Given the description of an element on the screen output the (x, y) to click on. 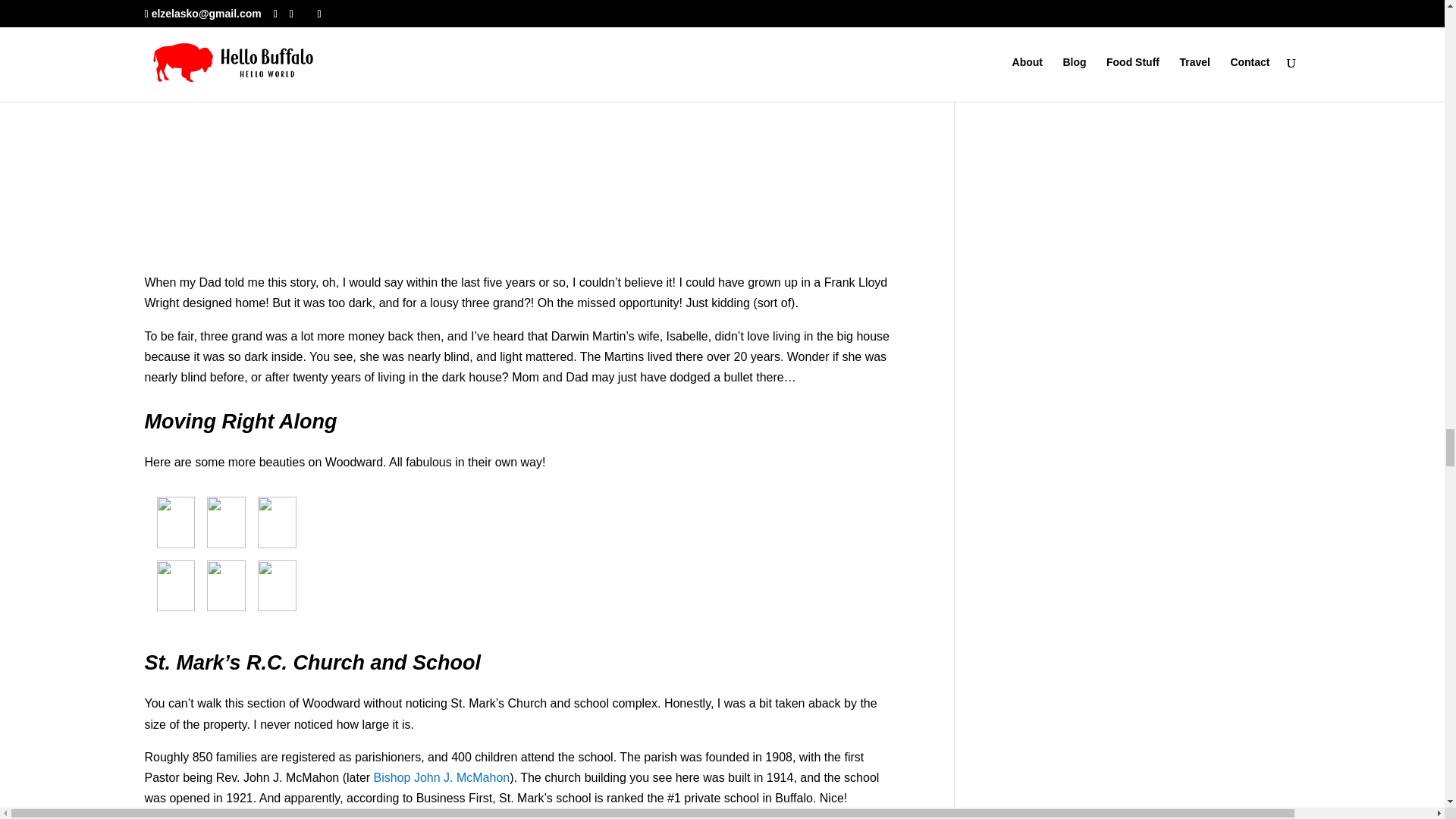
Bishop John J. McMahon (442, 777)
